Given the description of an element on the screen output the (x, y) to click on. 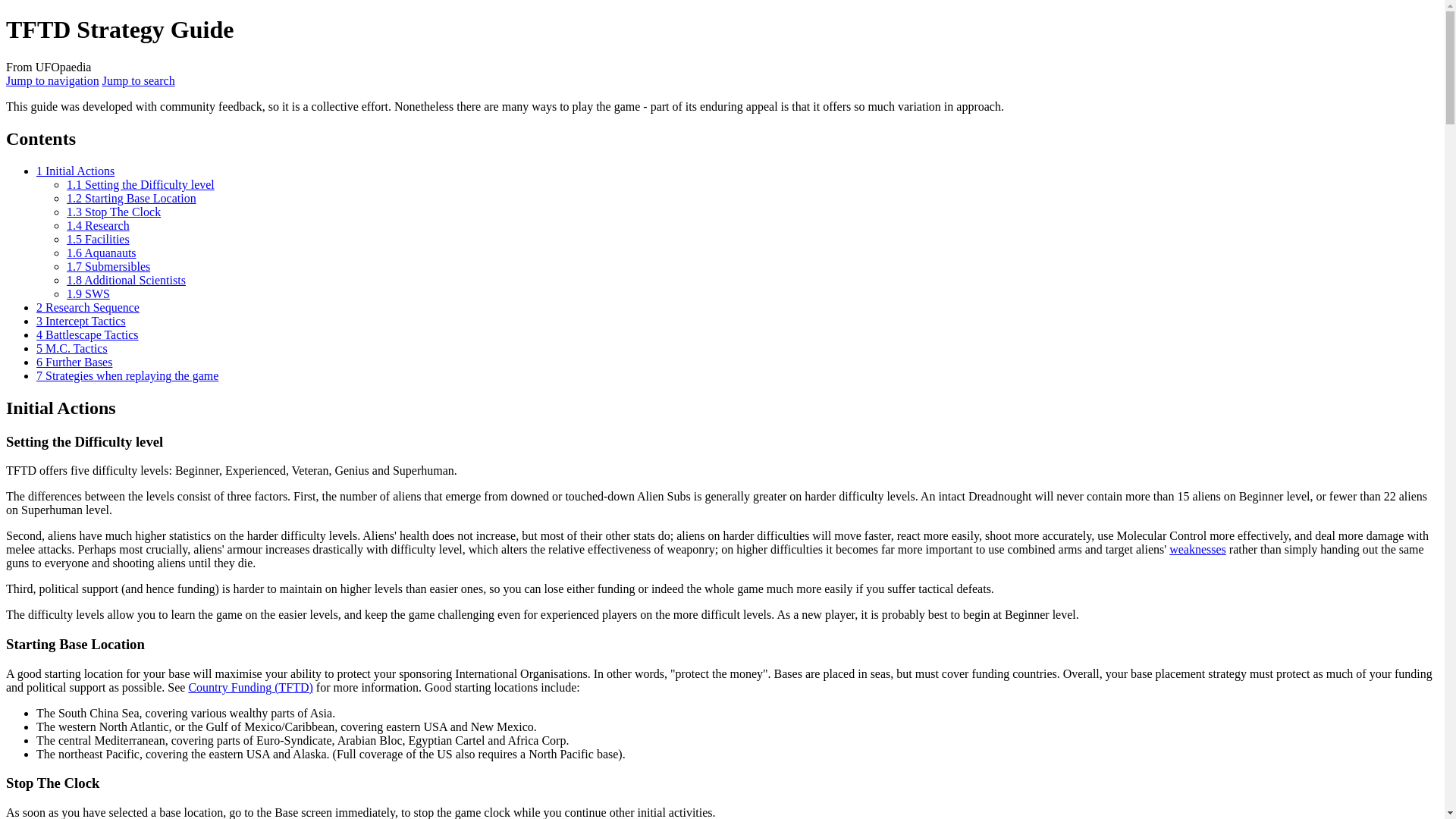
4 Battlescape Tactics (87, 334)
1 Initial Actions (75, 170)
1.9 SWS (88, 293)
7 Strategies when replaying the game (127, 375)
5 M.C. Tactics (71, 348)
1.1 Setting the Difficulty level (140, 184)
3 Intercept Tactics (80, 320)
2 Research Sequence (87, 307)
1.5 Facilities (97, 238)
1.4 Research (97, 225)
